Given the description of an element on the screen output the (x, y) to click on. 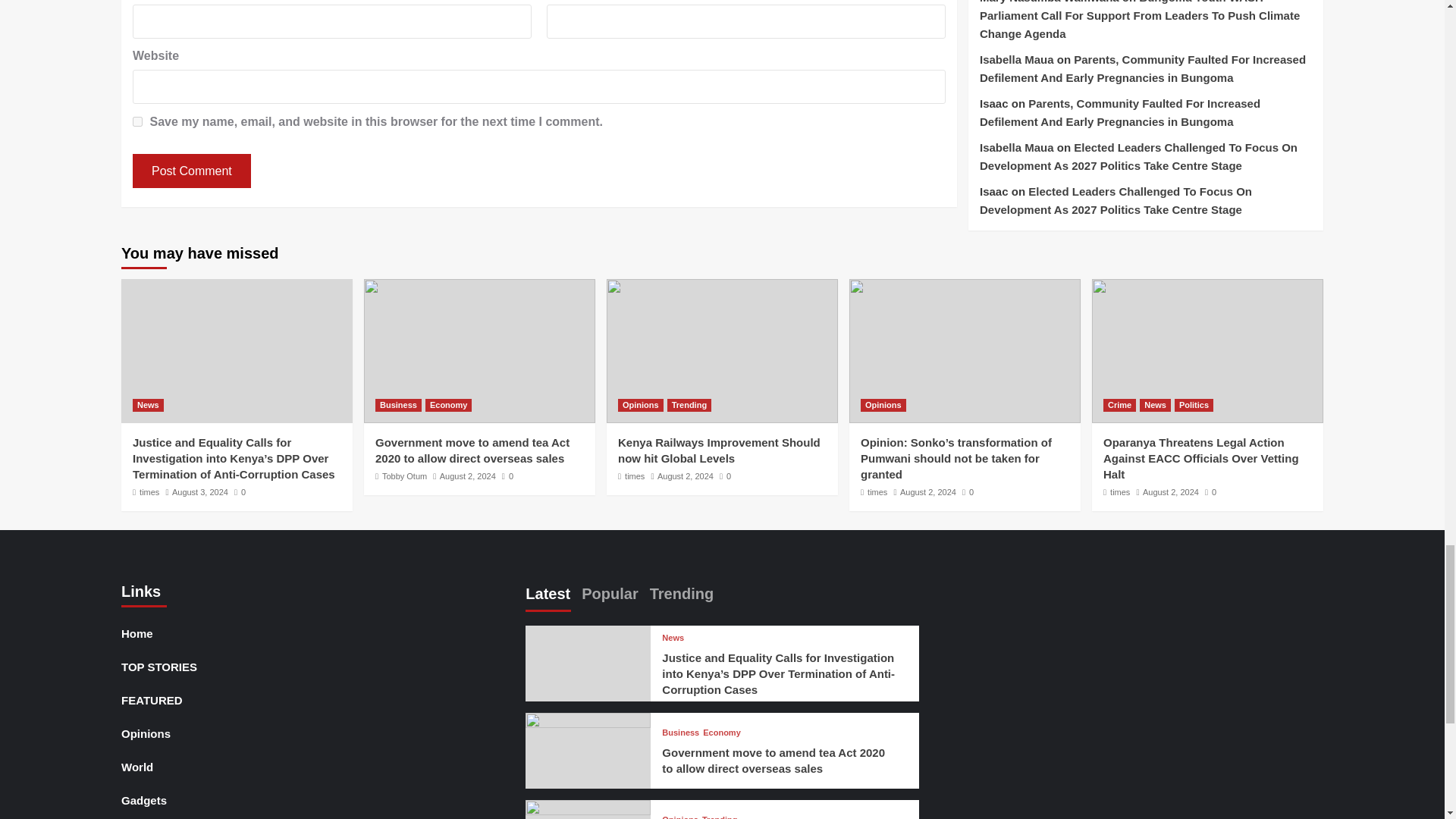
yes (137, 121)
Post Comment (191, 170)
